Given the description of an element on the screen output the (x, y) to click on. 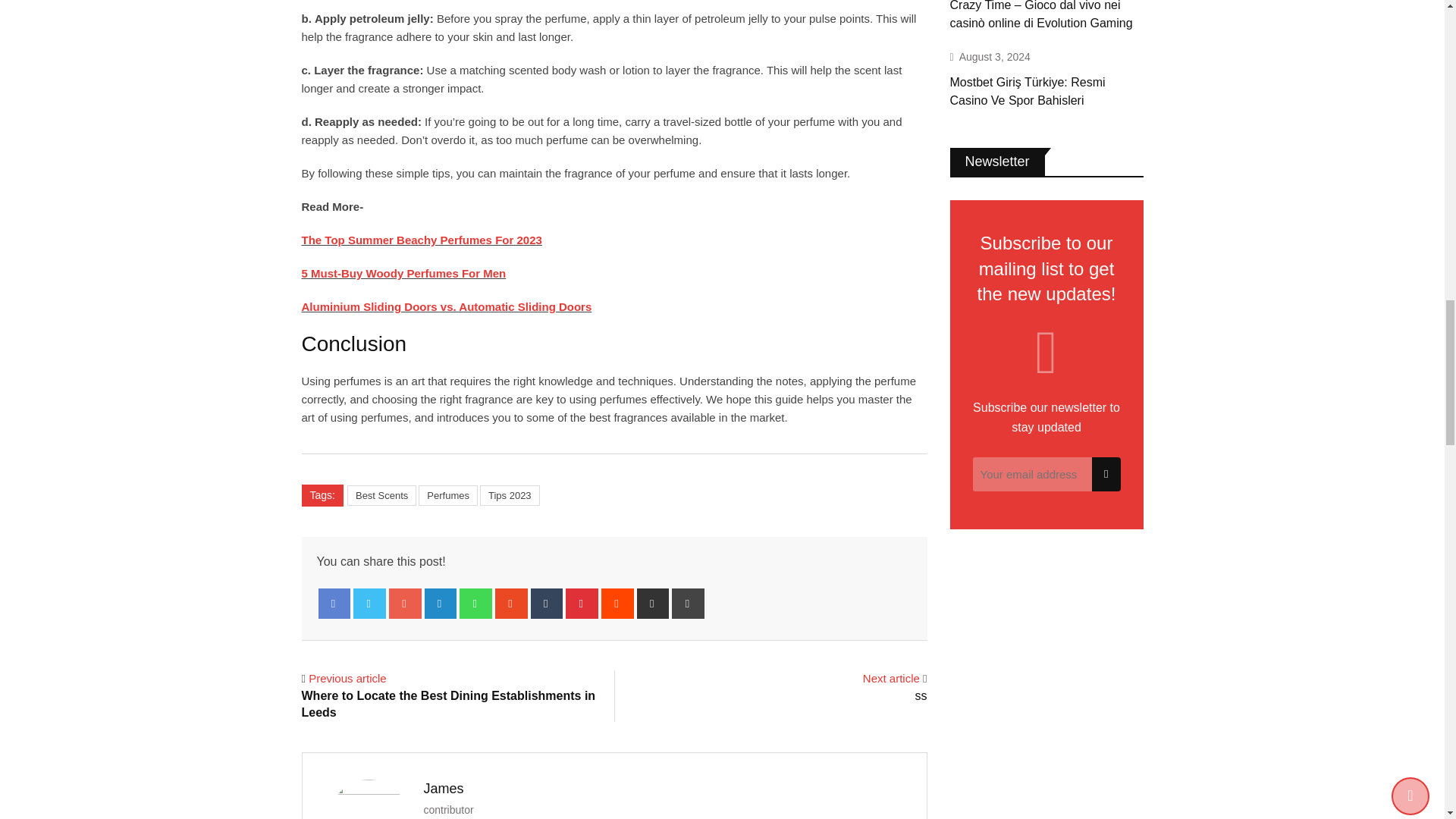
Posts by James (443, 788)
